Given the description of an element on the screen output the (x, y) to click on. 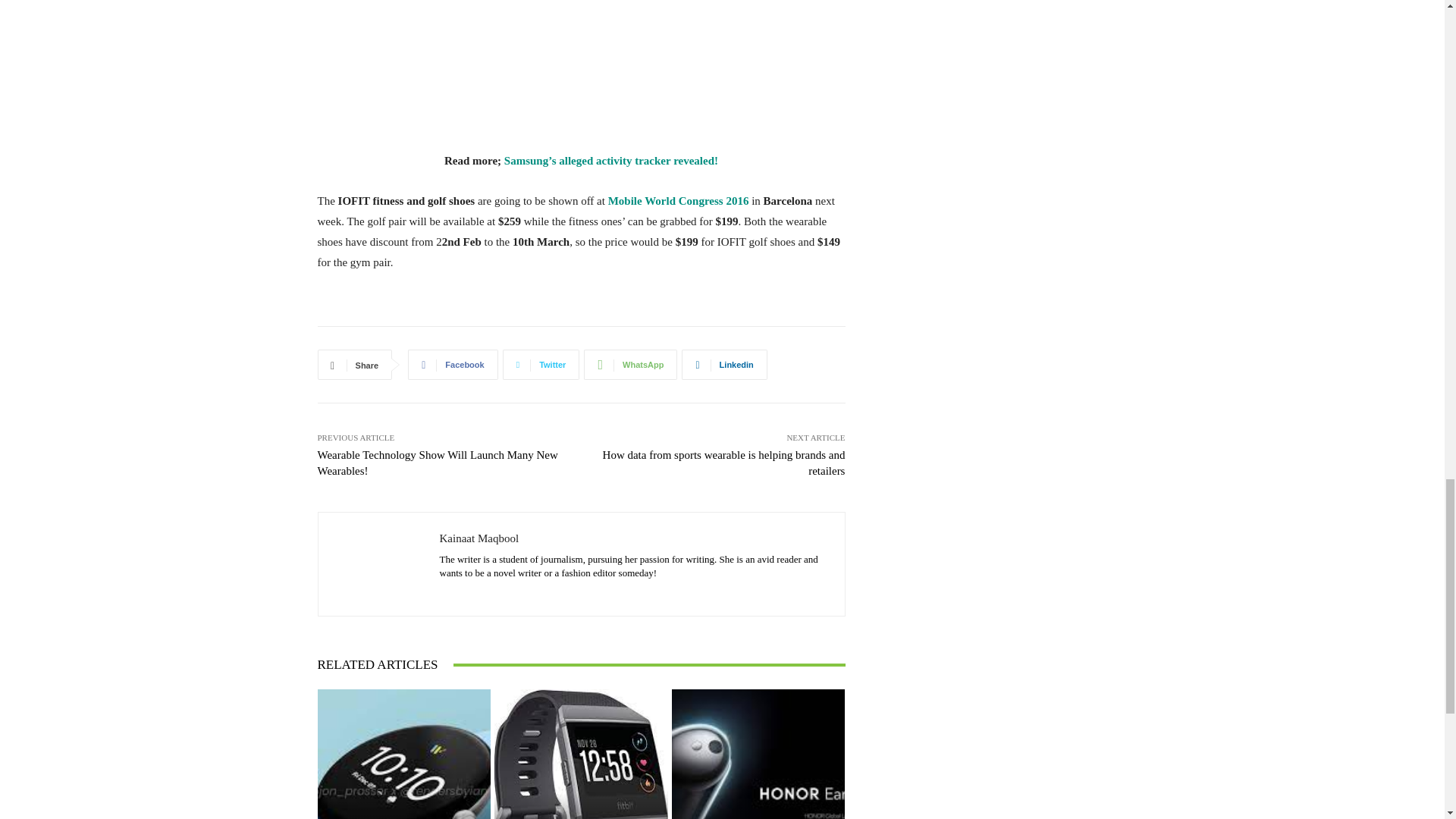
Facebook (452, 364)
